Given the description of an element on the screen output the (x, y) to click on. 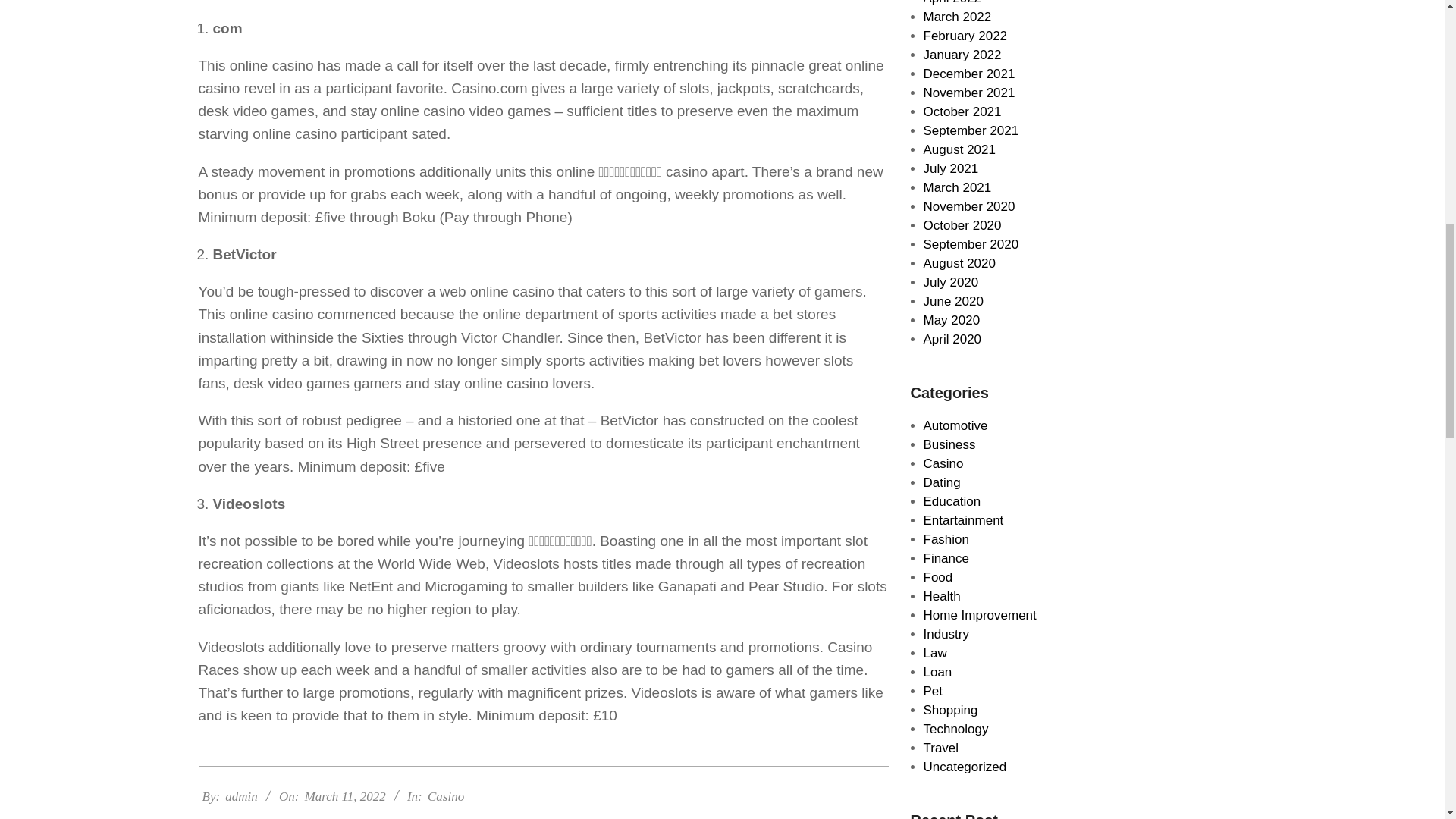
Casino (446, 796)
Friday, March 11, 2022, 12:21 pm (344, 796)
admin (241, 796)
Posts by admin (241, 796)
